Given the description of an element on the screen output the (x, y) to click on. 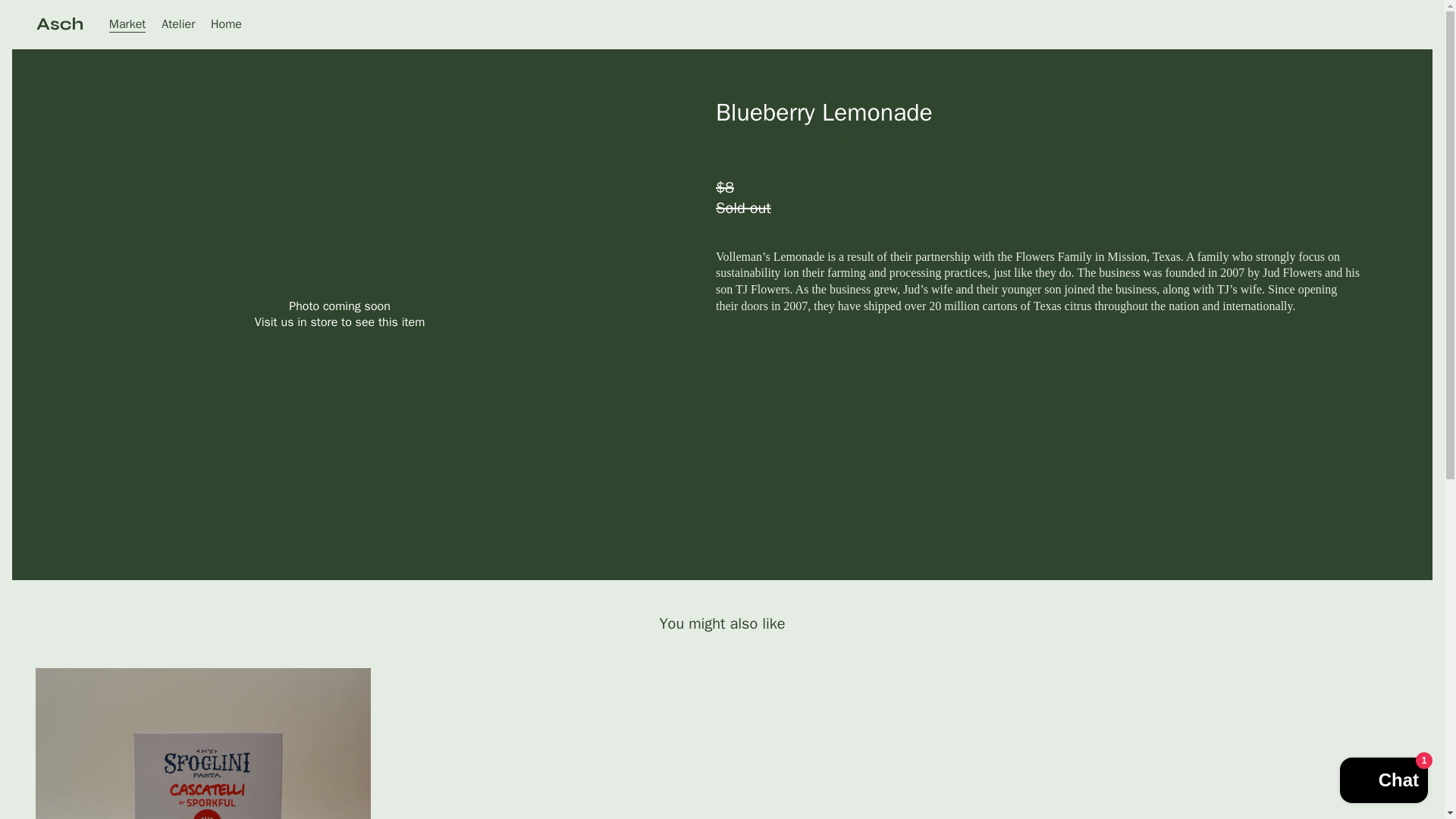
Atelier (178, 24)
Market (128, 24)
Asch (64, 23)
Shopify online store chat (1383, 781)
Home (226, 24)
Volleman's Family Farm (788, 141)
